Given the description of an element on the screen output the (x, y) to click on. 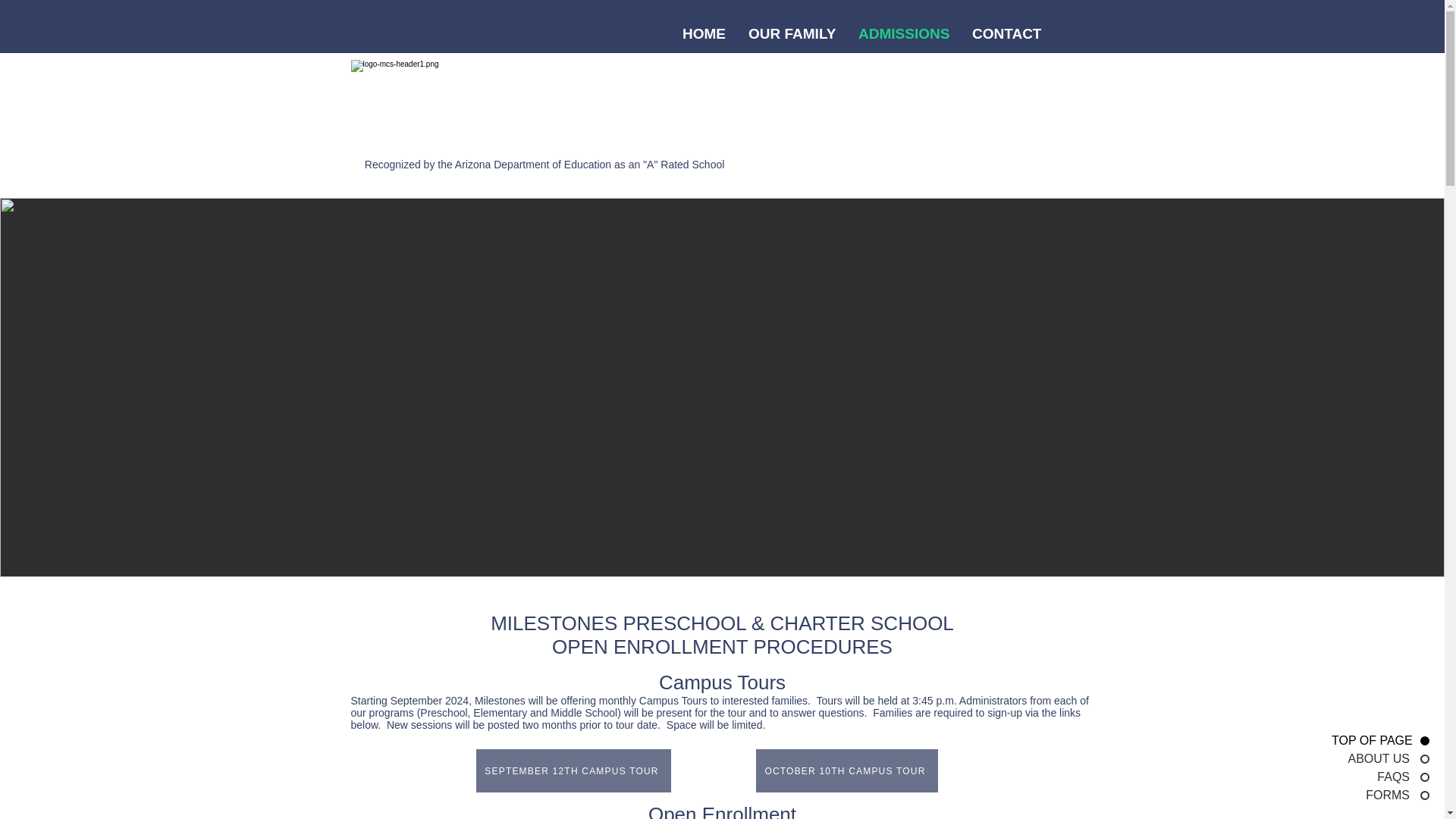
OUR FAMILY (791, 33)
TOP OF PAGE (1379, 740)
ADMISSIONS (903, 33)
ABOUT US (1379, 759)
OCTOBER 10TH CAMPUS TOUR (846, 770)
HOME (703, 33)
FORMS (1379, 795)
FAQS (1379, 777)
SEPTEMBER 12TH CAMPUS TOUR (573, 770)
CONTACT (1006, 33)
